Given the description of an element on the screen output the (x, y) to click on. 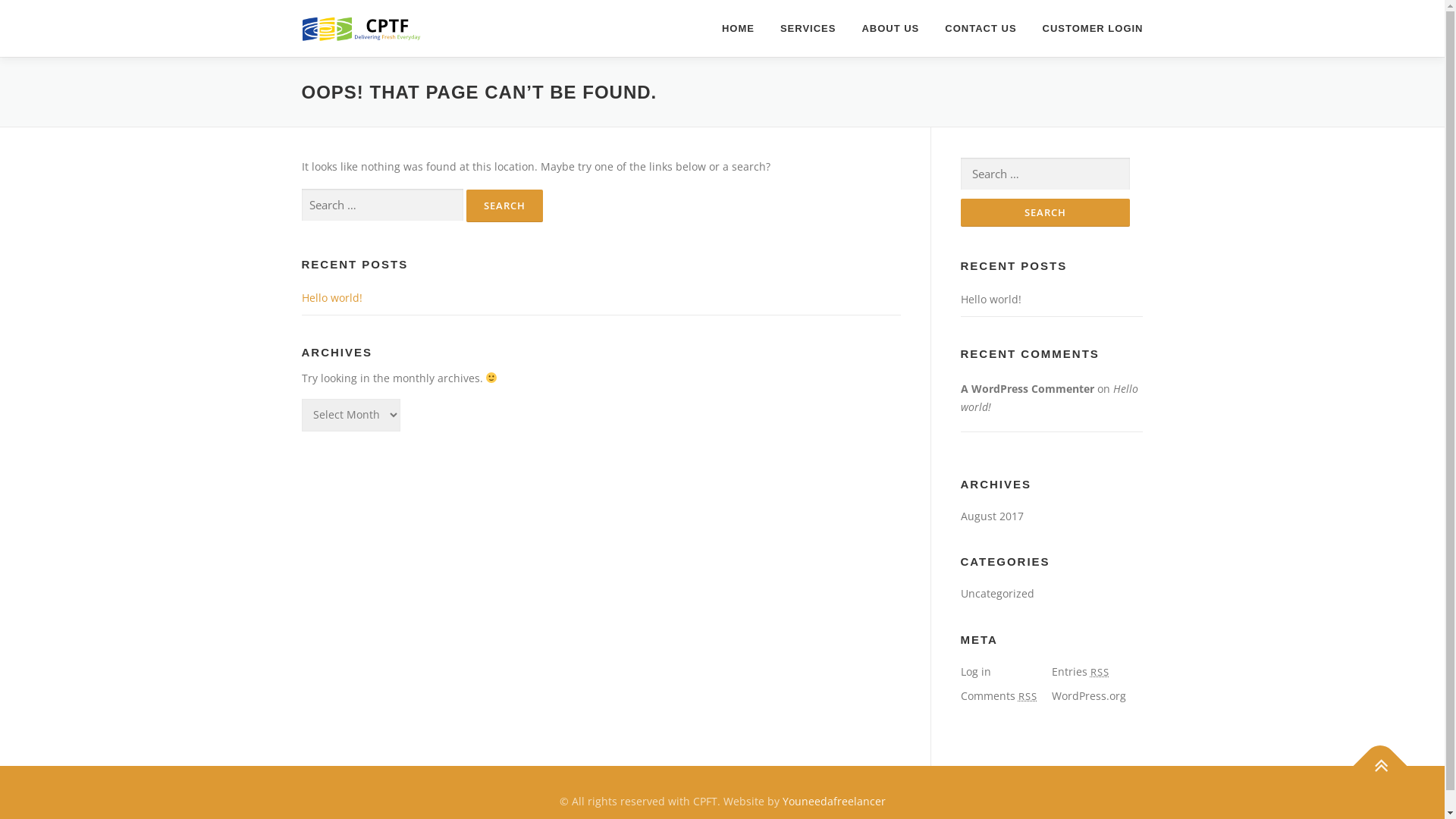
Hello world! Element type: text (331, 297)
CONTACT US Element type: text (980, 28)
HOME Element type: text (738, 28)
Log in Element type: text (975, 671)
ABOUT US Element type: text (889, 28)
CUSTOMER LOGIN Element type: text (1086, 28)
Hello world! Element type: text (990, 298)
Comments RSS Element type: text (998, 695)
WordPress.org Element type: text (1088, 695)
A WordPress Commenter Element type: text (1026, 388)
Uncategorized Element type: text (996, 593)
August 2017 Element type: text (991, 515)
Youneedafreelancer Element type: text (833, 800)
Entries RSS Element type: text (1079, 671)
SERVICES Element type: text (808, 28)
Search Element type: text (1044, 212)
Back To Top Element type: hover (1372, 757)
Hello world! Element type: text (1048, 397)
Search Element type: text (503, 205)
Skip to content Element type: text (37, 9)
